Given the description of an element on the screen output the (x, y) to click on. 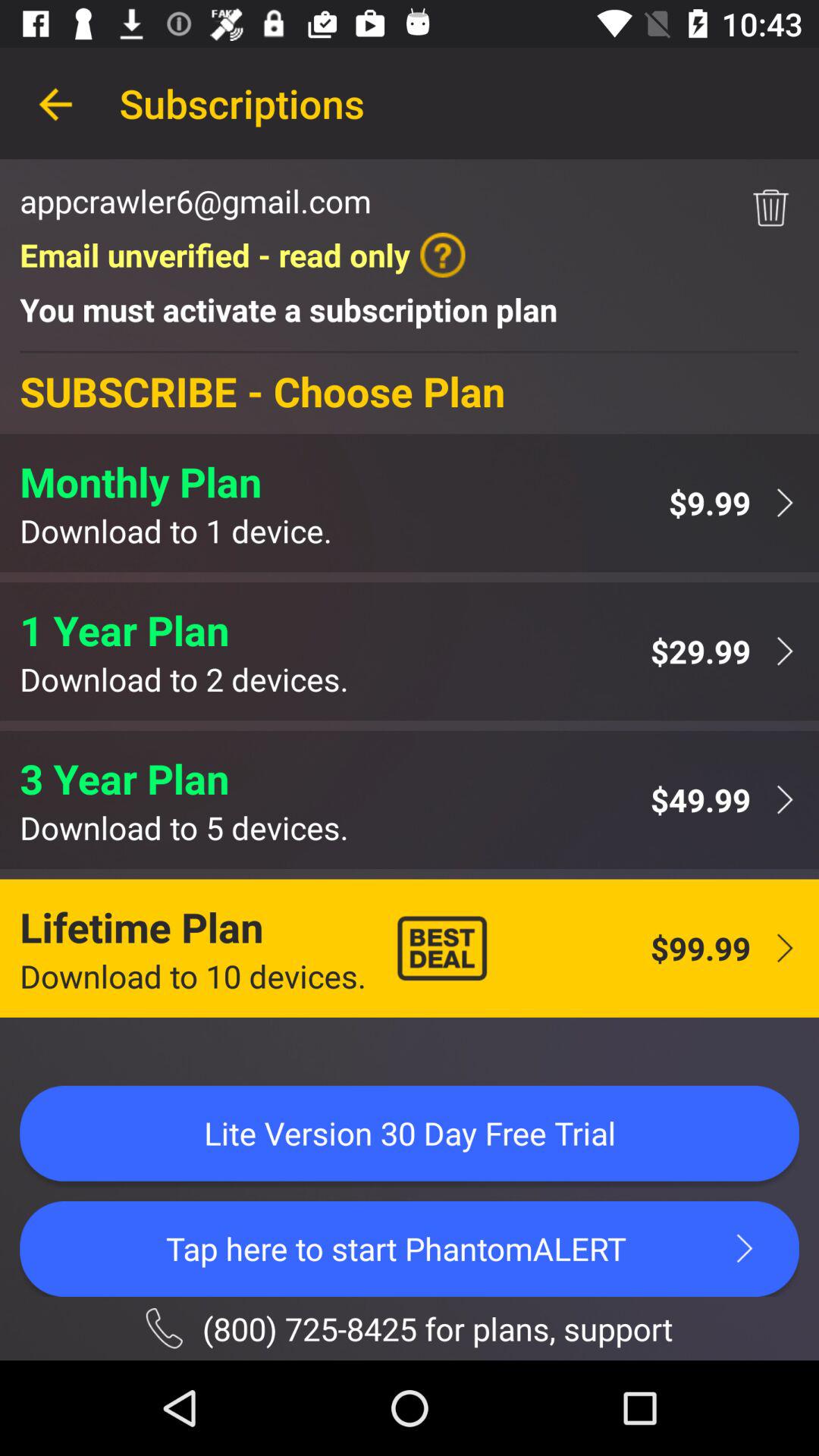
launch the tap here to (409, 1248)
